Given the description of an element on the screen output the (x, y) to click on. 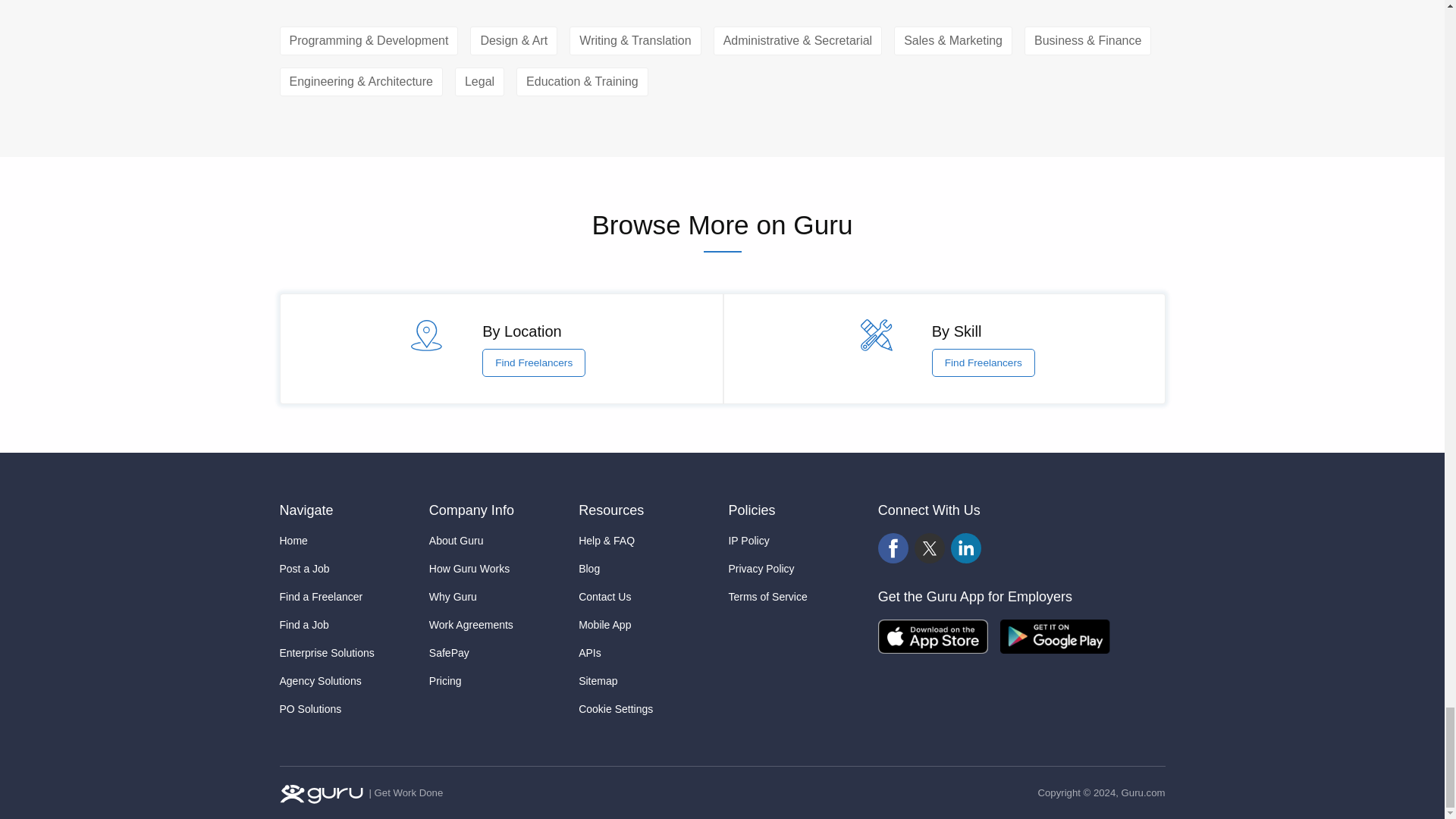
Connect with Guru on Facebook (893, 547)
